Given the description of an element on the screen output the (x, y) to click on. 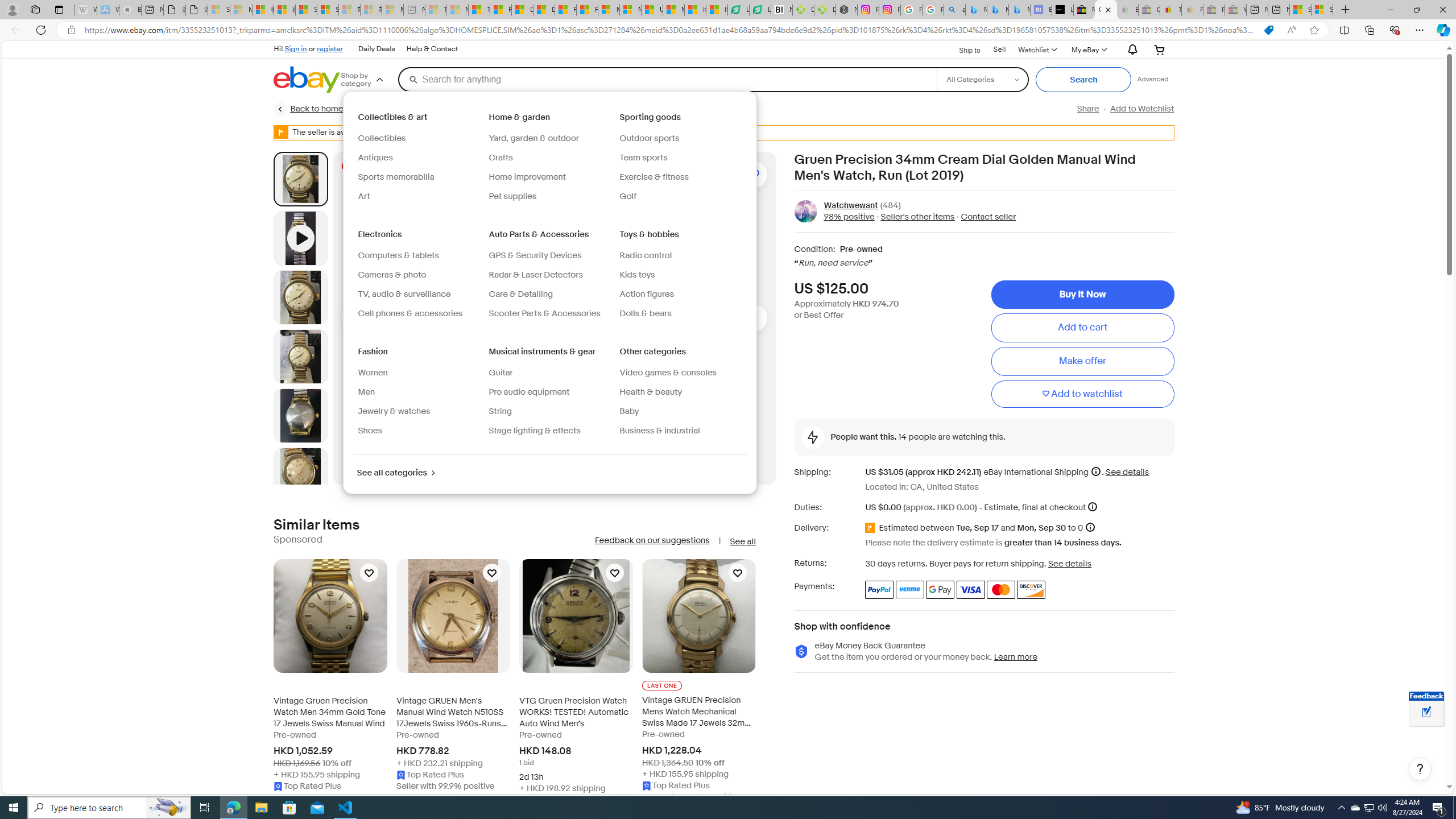
Advanced Search (1152, 78)
Picture 1 of 13 (300, 178)
Video games & consoles (668, 372)
Outdoor sports (649, 138)
Radar & Laser Detectors (535, 275)
Picture 5 of 13 (300, 474)
Threats and offensive language policy | eBay (1170, 9)
See details for shipping (1126, 472)
Art (363, 196)
Watches (606, 108)
Action figures (646, 294)
